Given the description of an element on the screen output the (x, y) to click on. 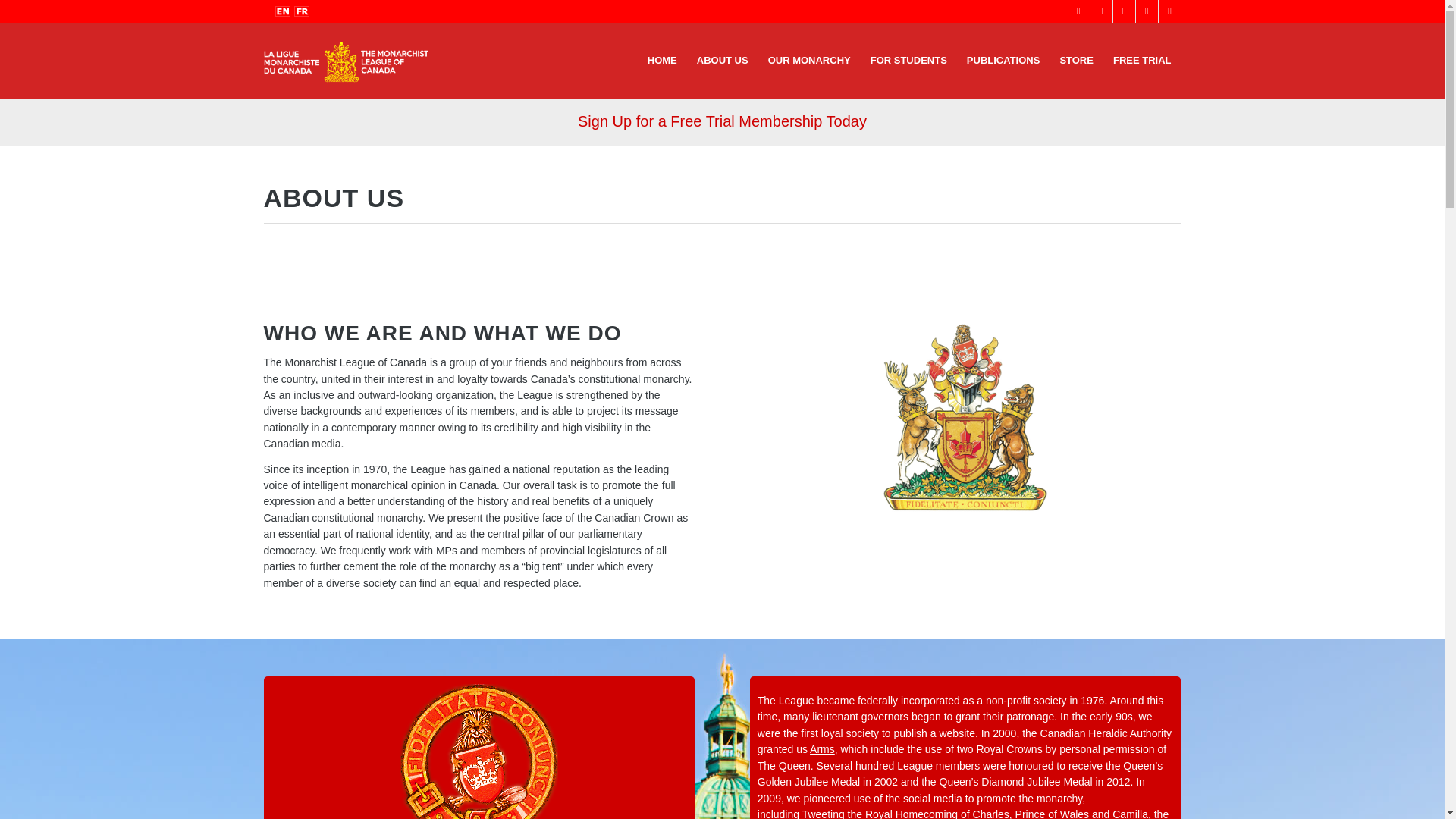
leaguebadge (477, 751)
OUR MONARCHY (809, 60)
Twitter (1101, 11)
Facebook (1078, 11)
logo-monarchist-v2 (346, 60)
Instagram (1146, 11)
Tumblr (1169, 11)
English (282, 10)
ABOUT US (722, 60)
FOR STUDENTS (908, 60)
Youtube (1124, 11)
